Given the description of an element on the screen output the (x, y) to click on. 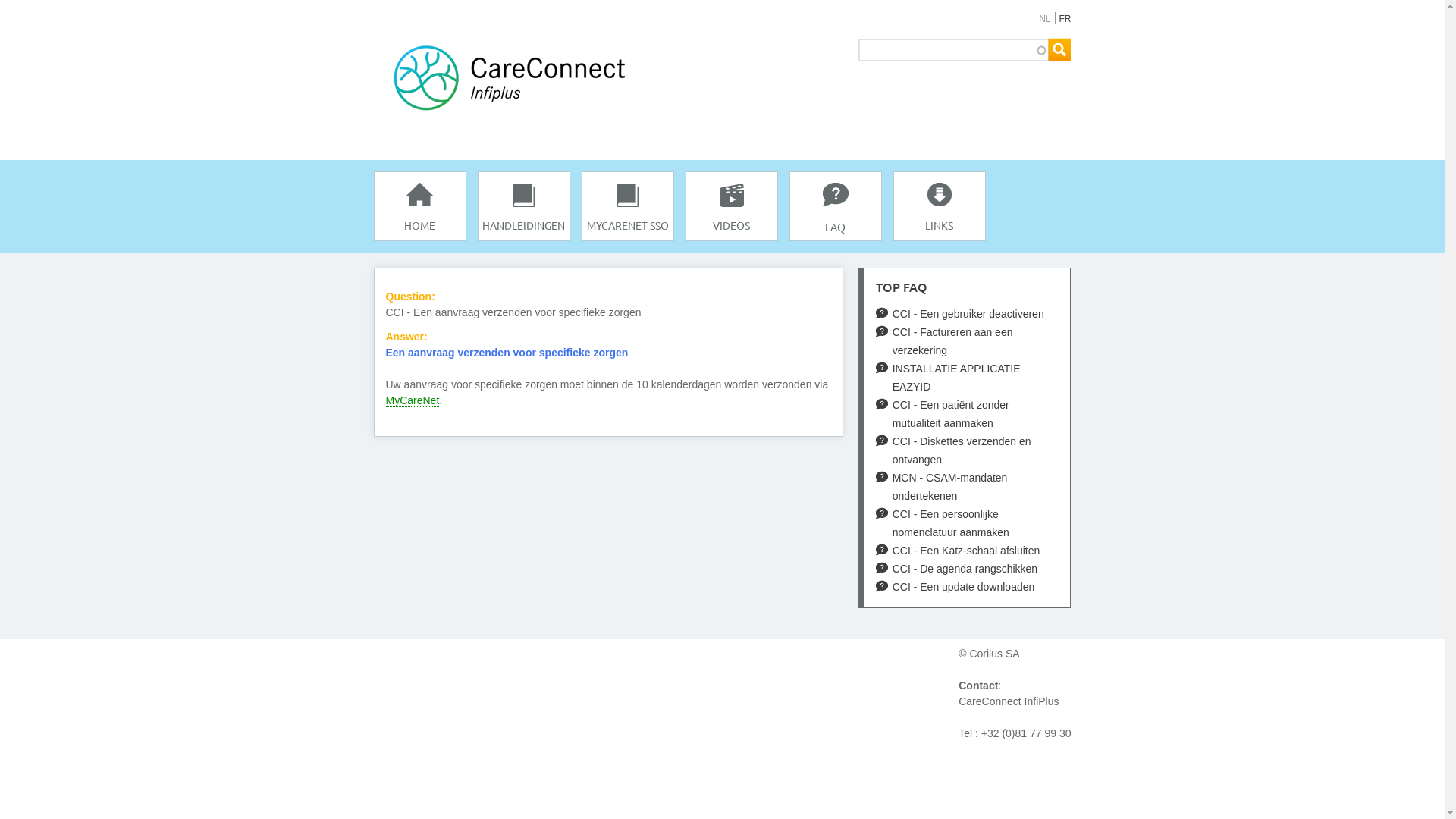
CCI - Een update downloaden Element type: text (966, 586)
NL Element type: text (1044, 18)
CCI - Een Katz-schaal afsluiten Element type: text (966, 550)
Toepassen Element type: text (1059, 49)
FAQ Element type: text (834, 206)
INSTALLATIE APPLICATIE EAZYID Element type: text (966, 377)
VIDEOS Element type: text (731, 206)
Een aanvraag verzenden voor specifieke zorgen Element type: text (506, 352)
FR Element type: text (1064, 18)
CCI - Diskettes verzenden en ontvangen Element type: text (966, 450)
CCI - De agenda rangschikken Element type: text (966, 568)
MYCARENET SSO Element type: text (626, 206)
CareConnect Infiplus Element type: text (381, 404)
Skip to main content Element type: text (658, 0)
CCI - Een persoonlijke nomenclatuur aanmaken Element type: text (966, 523)
CCI - Factureren aan een verzekering Element type: text (966, 341)
MyCareNet Element type: text (412, 400)
LINKS Element type: text (939, 206)
MCN - CSAM-mandaten ondertekenen Element type: text (966, 486)
CCI - Een gebruiker deactiveren Element type: text (966, 313)
HANDLEIDINGEN Element type: text (523, 206)
HOME Element type: text (419, 206)
